Given the description of an element on the screen output the (x, y) to click on. 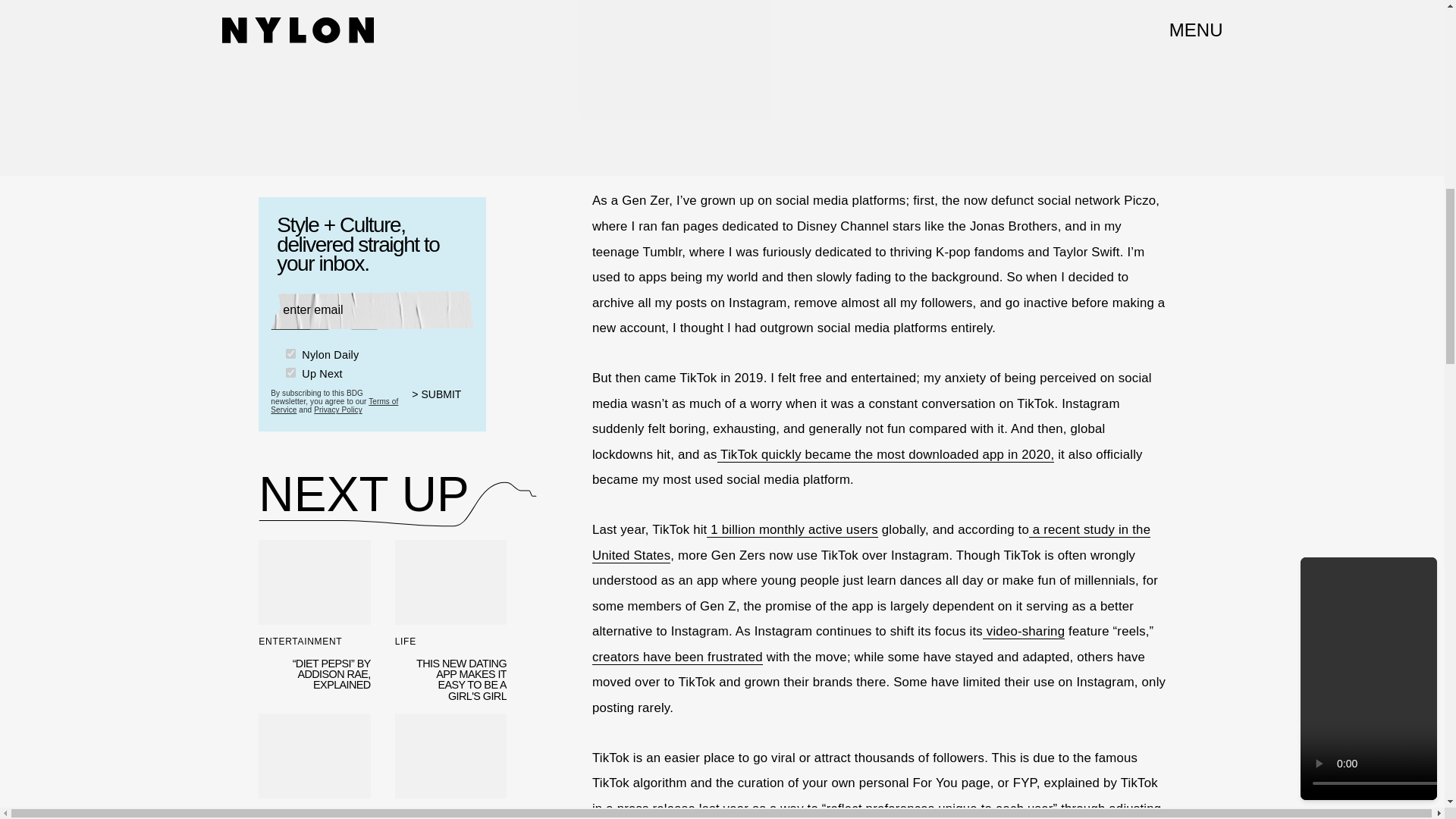
a recent study in the United States (871, 542)
press release (656, 808)
video-sharing (1023, 631)
Terms of Service (333, 405)
TikTok quickly became the most downloaded app in 2020, (885, 454)
1 billion monthly active users (791, 529)
ARE YOU READY TO BE DEMURE? (314, 766)
creators have been frustrated (872, 670)
Privacy Policy (338, 409)
SUBMIT (443, 404)
